Given the description of an element on the screen output the (x, y) to click on. 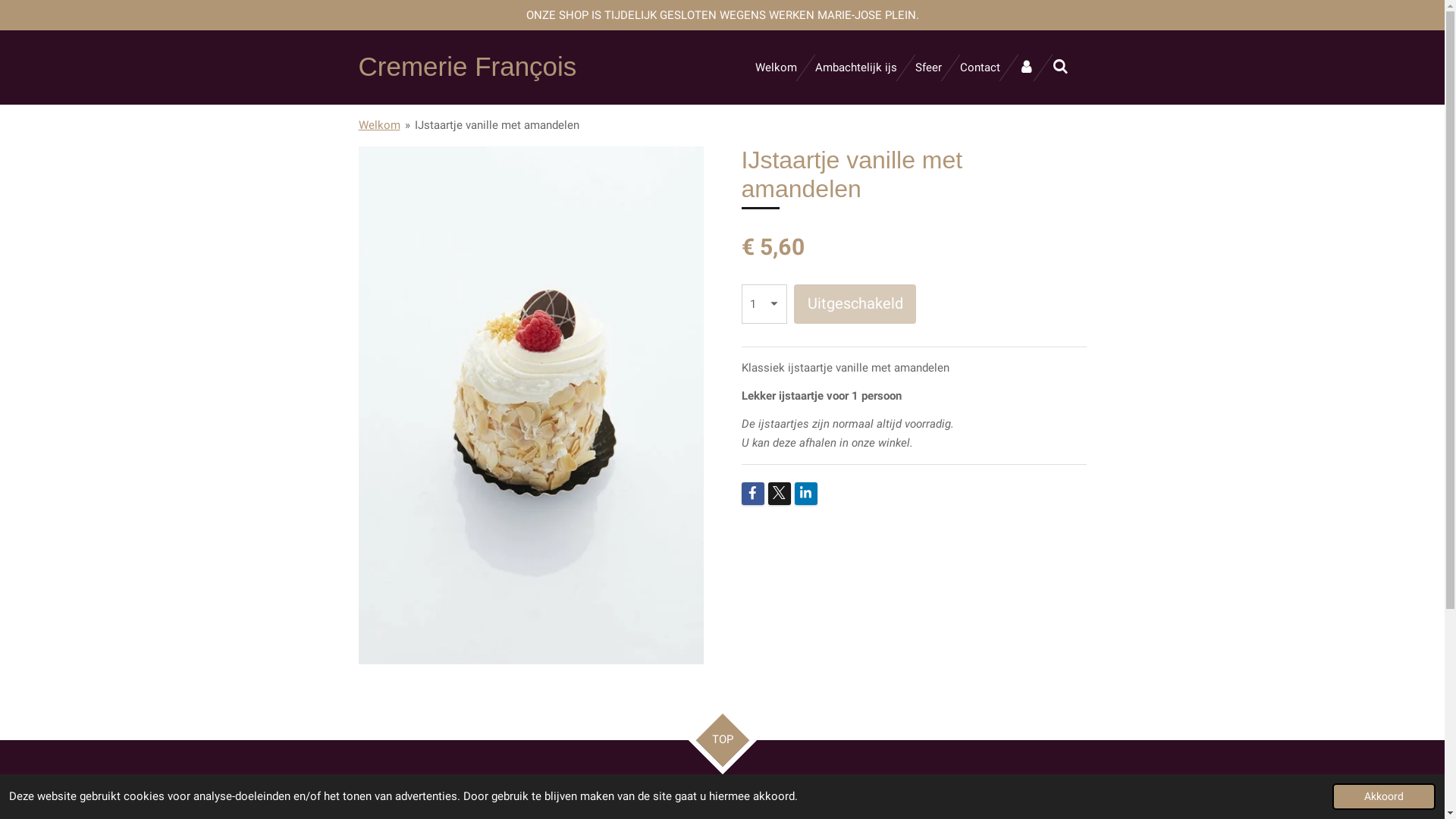
Welkom Element type: text (378, 124)
TOP Element type: text (714, 732)
Akkoord Element type: text (1383, 796)
Account Element type: hover (1025, 67)
IJstaartje vanille met amandelen Element type: text (496, 124)
Zoeken Element type: hover (1060, 67)
Ambachtelijk ijs Element type: text (855, 67)
Uitgeschakeld Element type: text (854, 303)
Contact Element type: text (979, 67)
Sfeer Element type: text (927, 67)
Welkom Element type: text (776, 67)
